Given the description of an element on the screen output the (x, y) to click on. 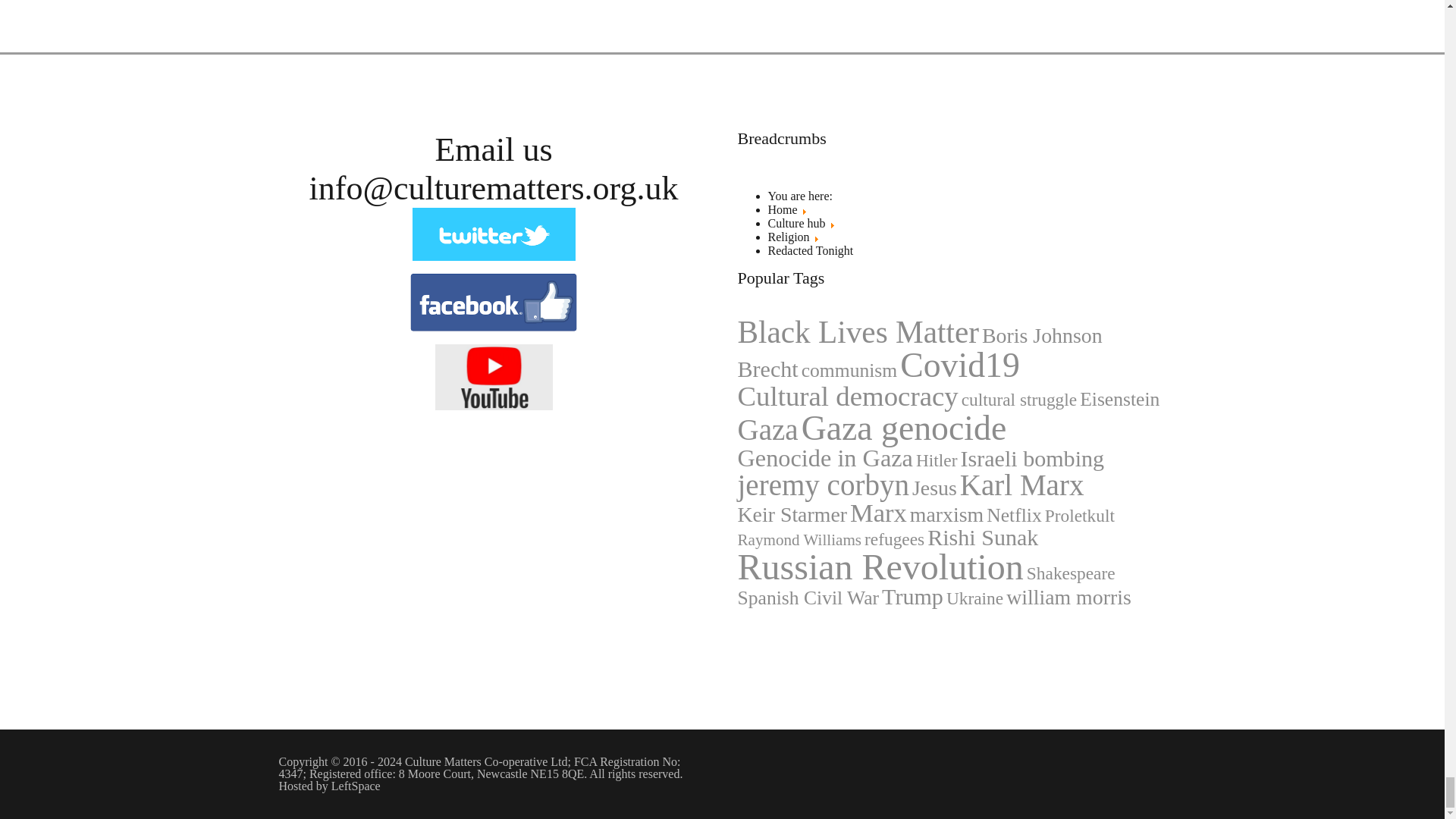
7 items tagged with communism (850, 370)
13 items tagged with Gaza (766, 429)
8 items tagged with Boris Johnson (1041, 335)
7 items tagged with Eisenstein (1119, 399)
9 items tagged with Brecht (766, 368)
16 items tagged with Gaza genocide (904, 428)
14 items tagged with Black Lives Matter (857, 332)
16 items tagged with Covid19 (959, 365)
6 items tagged with cultural struggle (1018, 399)
12 items tagged with Cultural democracy (847, 397)
